Given the description of an element on the screen output the (x, y) to click on. 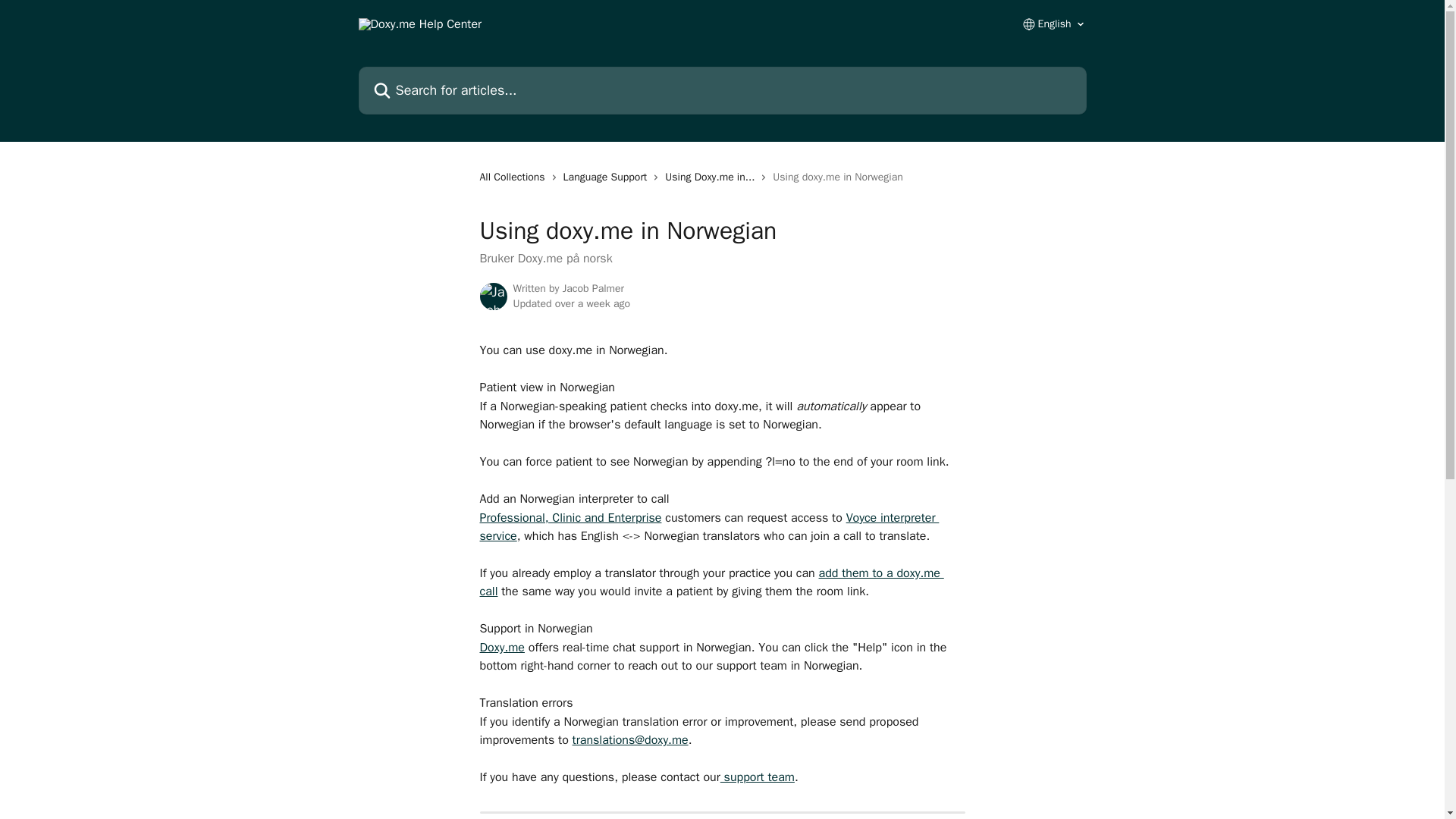
Professional, Clinic and Enterprise (570, 517)
support team (757, 776)
Voyce interpreter service (709, 526)
Using Doxy.me in... (712, 176)
All Collections (514, 176)
Language Support (608, 176)
add them to a doxy.me call (711, 581)
Doxy.me (501, 647)
